Given the description of an element on the screen output the (x, y) to click on. 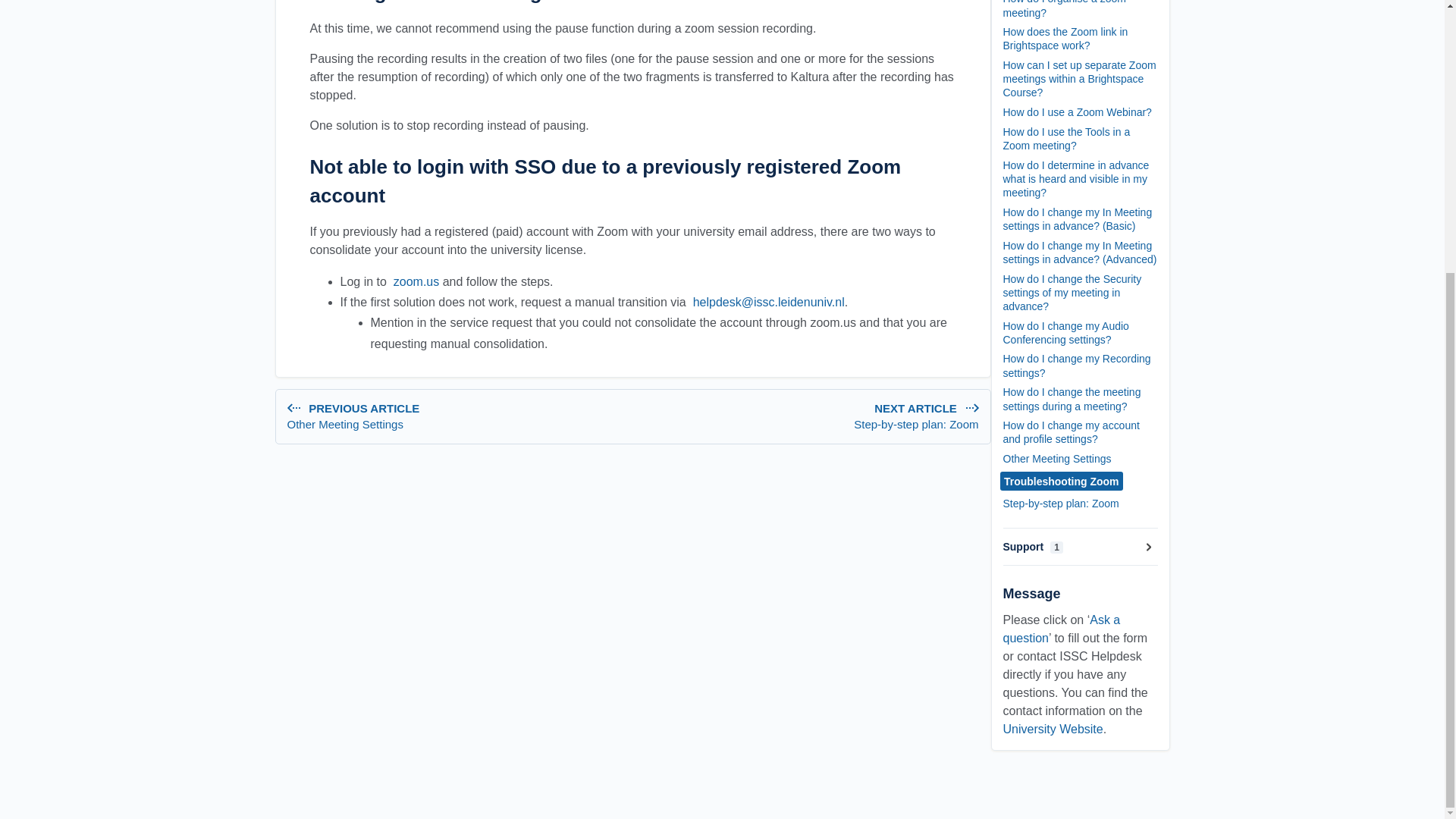
Other Meeting Settings (456, 424)
Step-by-step plan: Zoom (456, 416)
 zoom.us (915, 424)
